Given the description of an element on the screen output the (x, y) to click on. 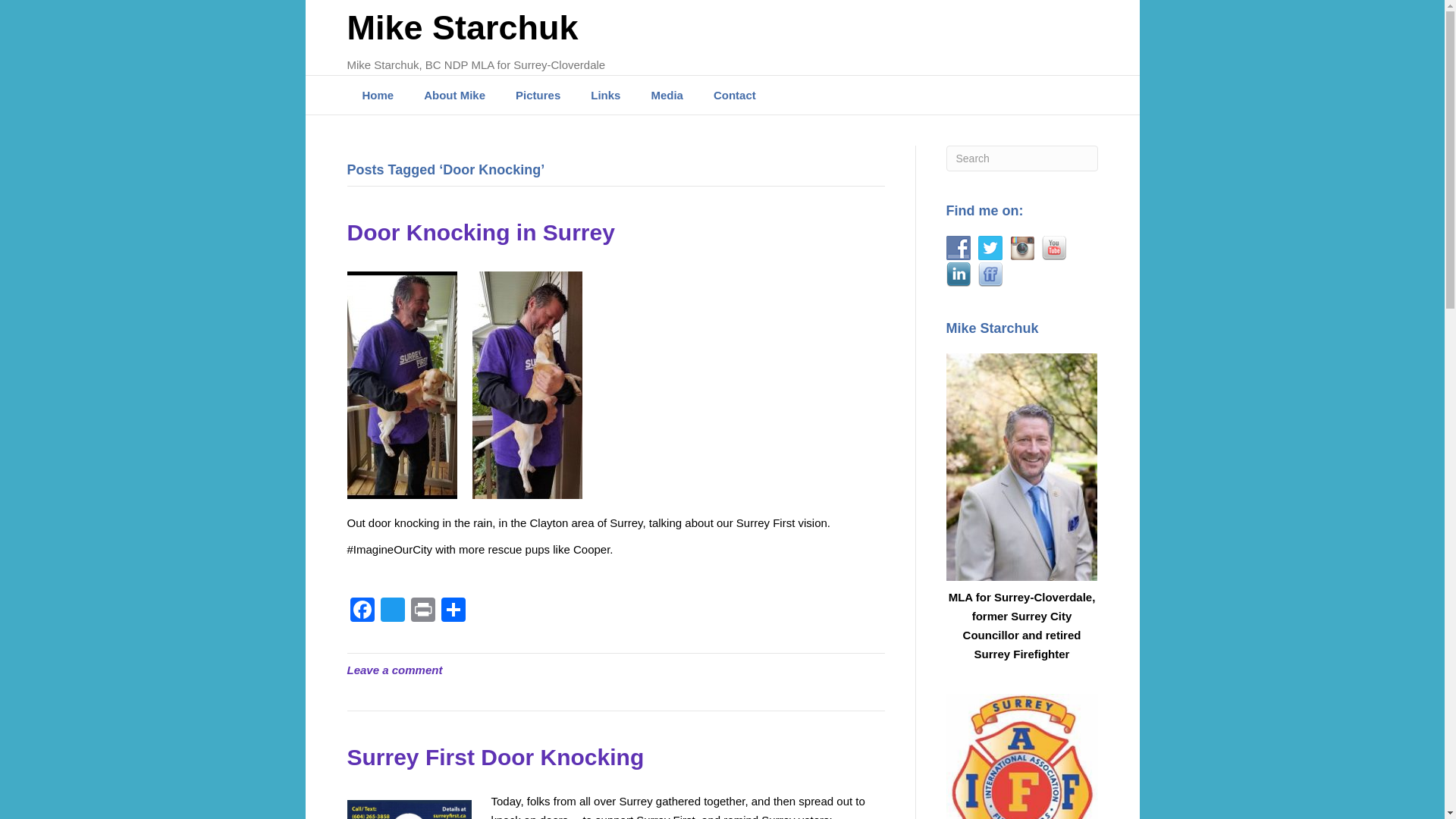
Home (378, 95)
Mike Starchuk (523, 28)
Type and press Enter to search. (1021, 158)
Contact (734, 95)
Surrey First Door Knocking (496, 756)
Surrey First Door Knocking (496, 756)
Find me on: FriendFeed (990, 274)
Links (604, 95)
Twitter (392, 611)
Find me on: Instagram (1021, 247)
